Given the description of an element on the screen output the (x, y) to click on. 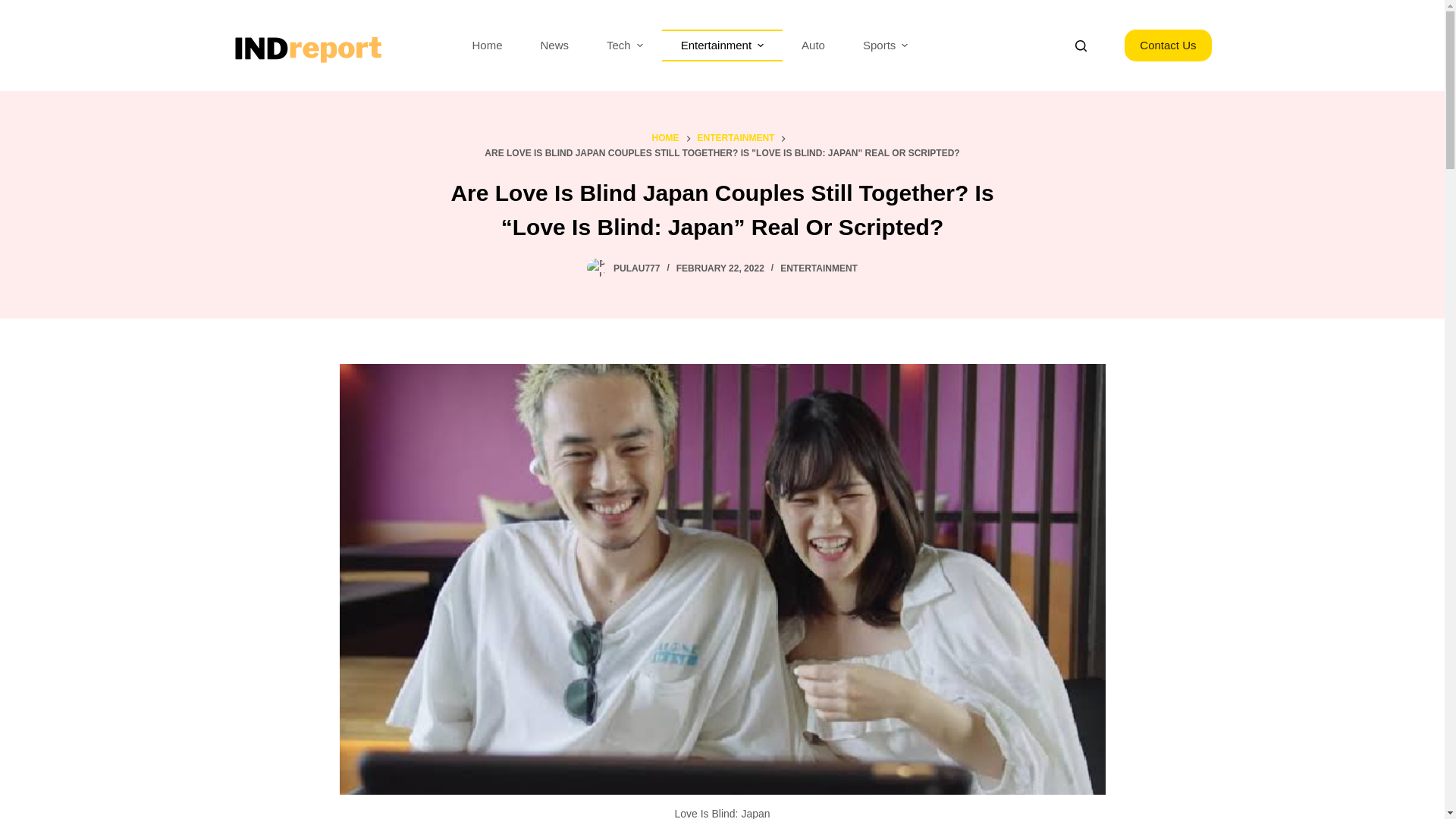
Sports (885, 45)
Posts by Pulau777 (635, 267)
Entertainment (722, 45)
Contact Us (1167, 45)
Home (486, 45)
Tech (625, 45)
Auto (813, 45)
News (554, 45)
Skip to content (15, 7)
